Given the description of an element on the screen output the (x, y) to click on. 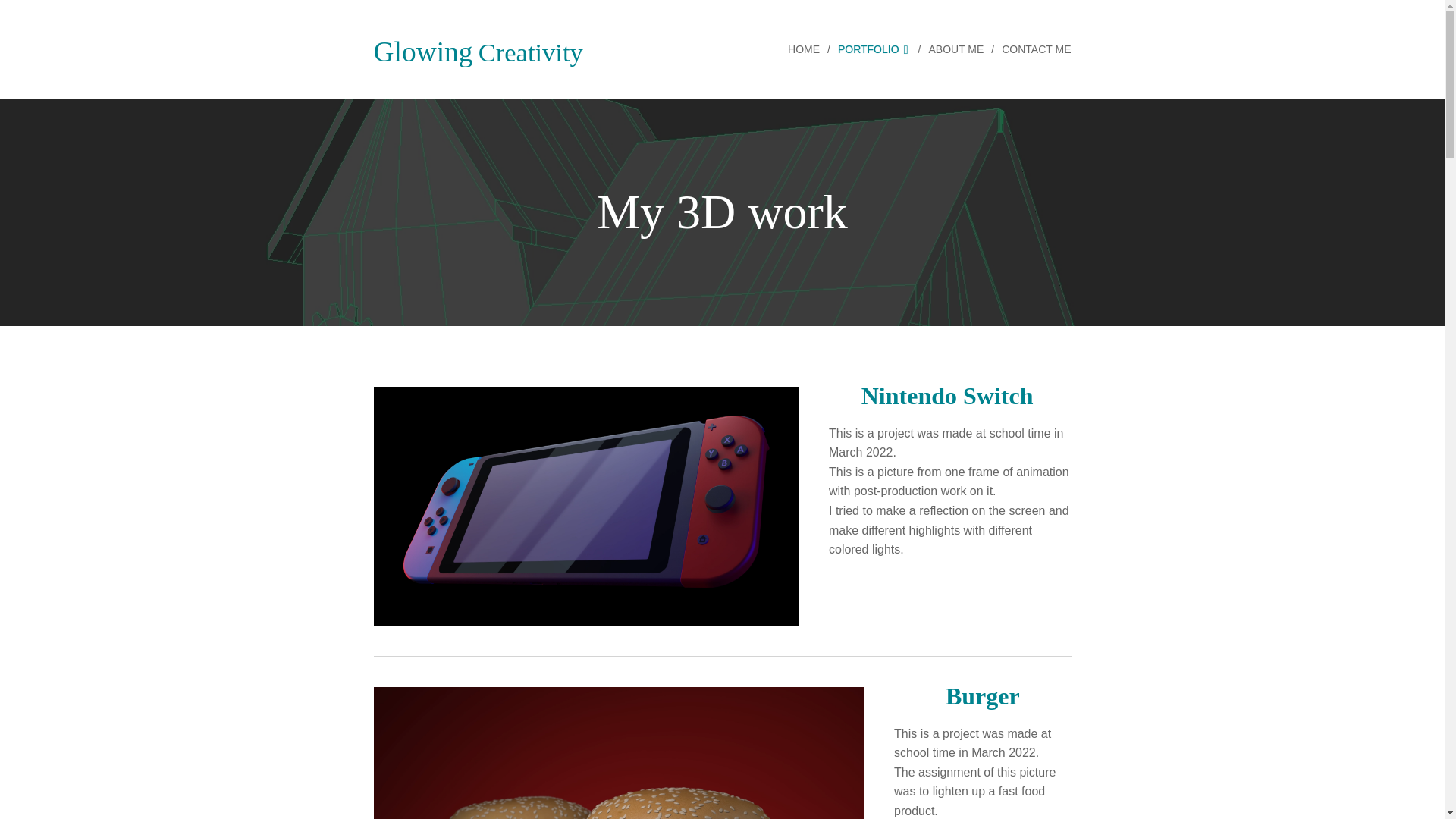
ABOUT ME (957, 48)
CONTACT ME (1032, 48)
PORTFOLIO (875, 48)
Glowing Creativity (477, 49)
HOME (806, 48)
